Given the description of an element on the screen output the (x, y) to click on. 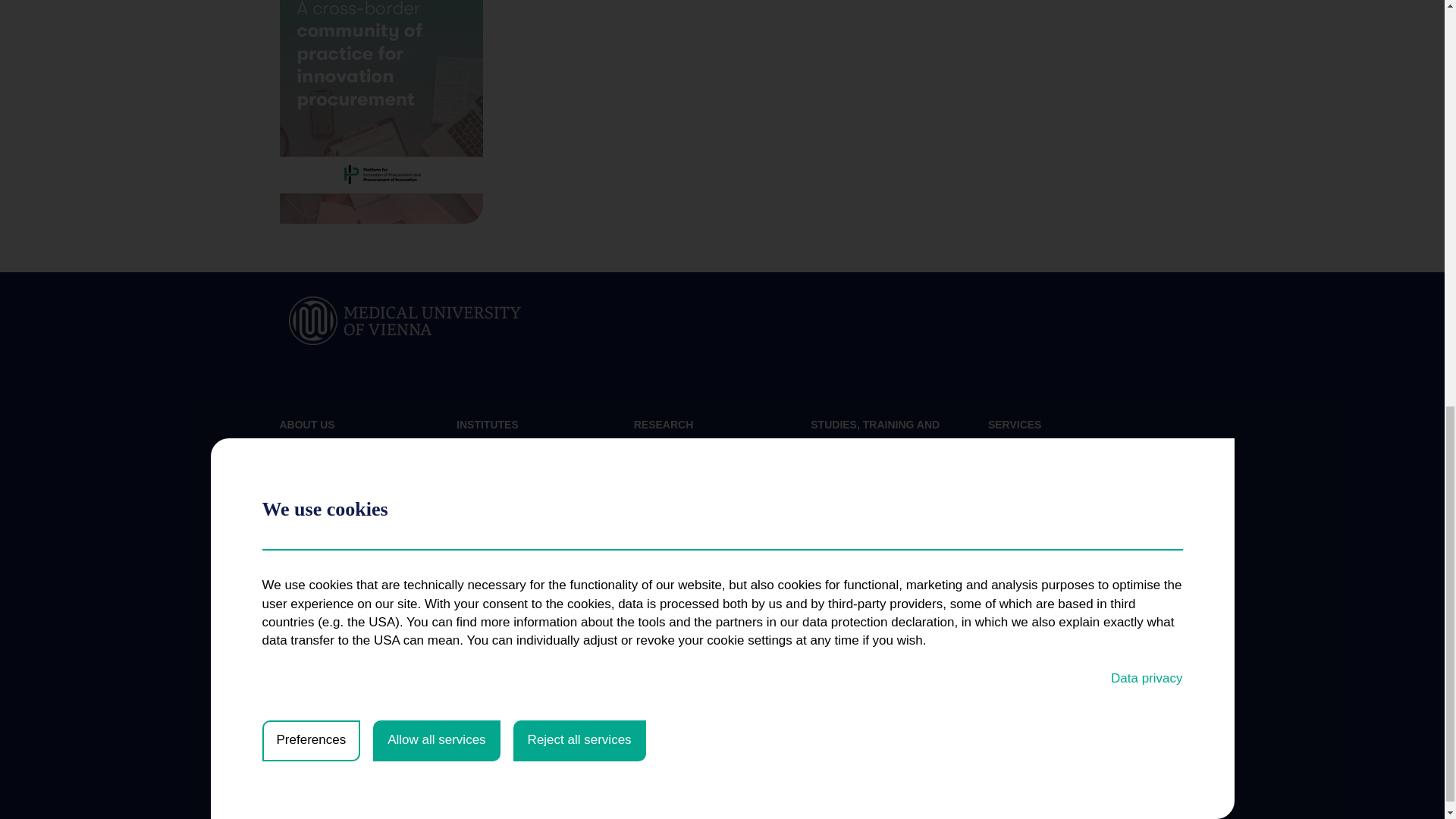
Open Positions (314, 519)
News (292, 469)
Medical University of Vienna (404, 319)
Staff Members (313, 494)
Click to open the leaflet (380, 111)
Medical University of Vienna (404, 320)
The Center (305, 445)
